Given the description of an element on the screen output the (x, y) to click on. 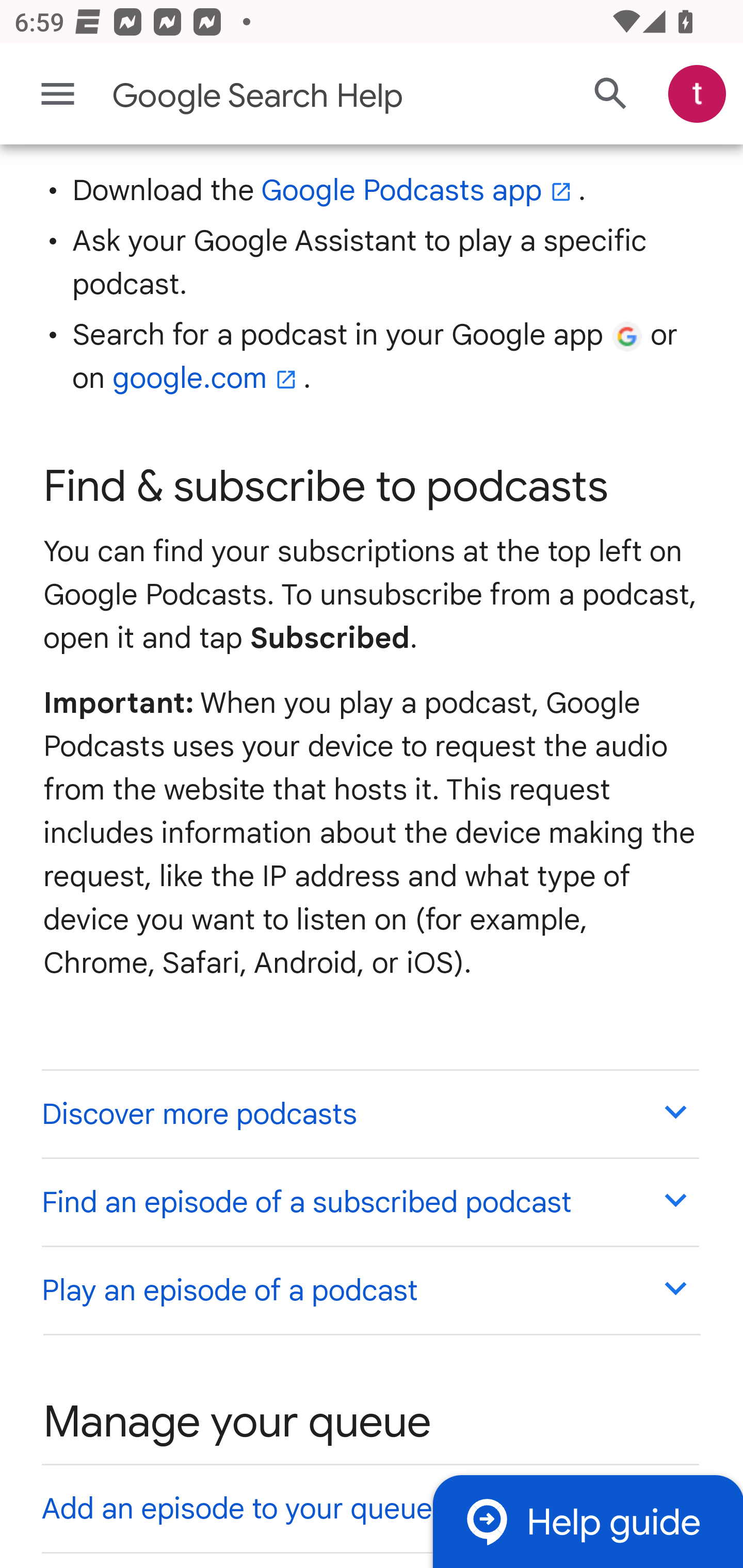
Main menu (58, 93)
Google Search Help (292, 96)
Search Help Center (611, 94)
Google Podcasts app (419, 190)
google.com (207, 377)
Discover more podcasts (369, 1113)
Find an episode of a subscribed podcast (369, 1201)
Play an episode of a podcast (369, 1289)
Help guide (587, 1520)
